Given the description of an element on the screen output the (x, y) to click on. 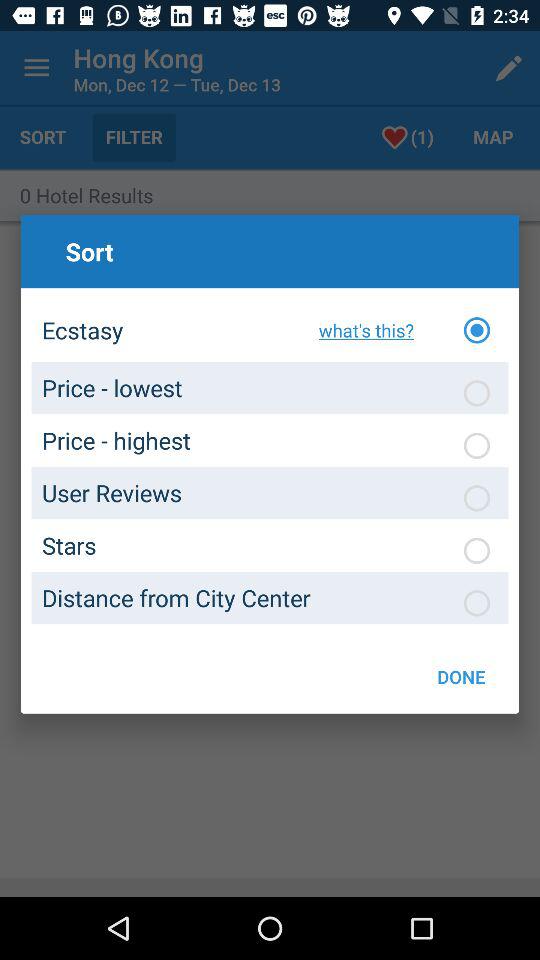
scroll until the done (461, 676)
